Given the description of an element on the screen output the (x, y) to click on. 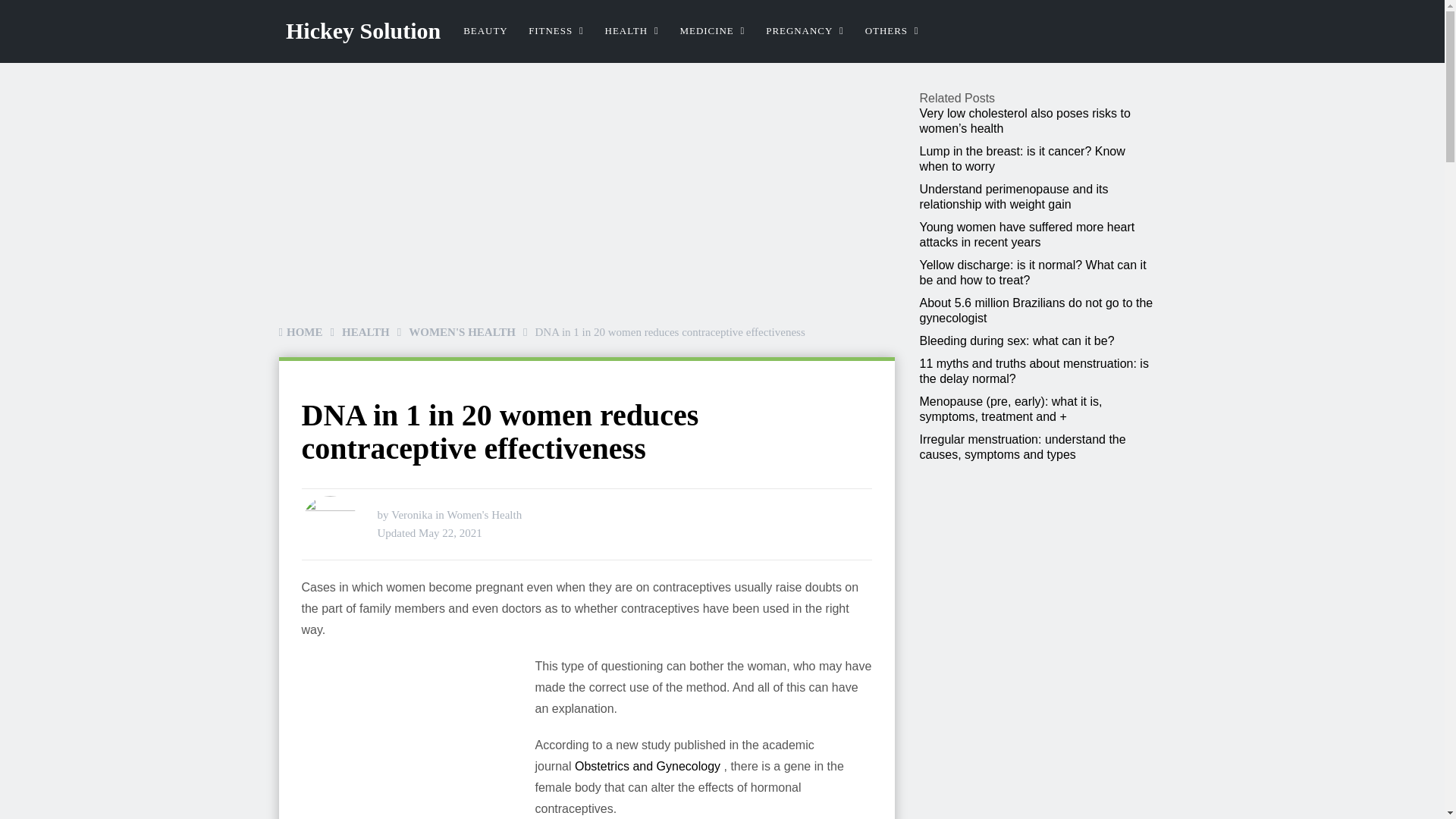
PREGNANCY (804, 31)
View all posts in Women's Health (484, 514)
HEALTH (631, 31)
BEAUTY (485, 31)
MEDICINE (712, 31)
OTHERS (891, 31)
Posts by Veronika (411, 514)
FITNESS (556, 31)
Hickey Solution (363, 30)
